Given the description of an element on the screen output the (x, y) to click on. 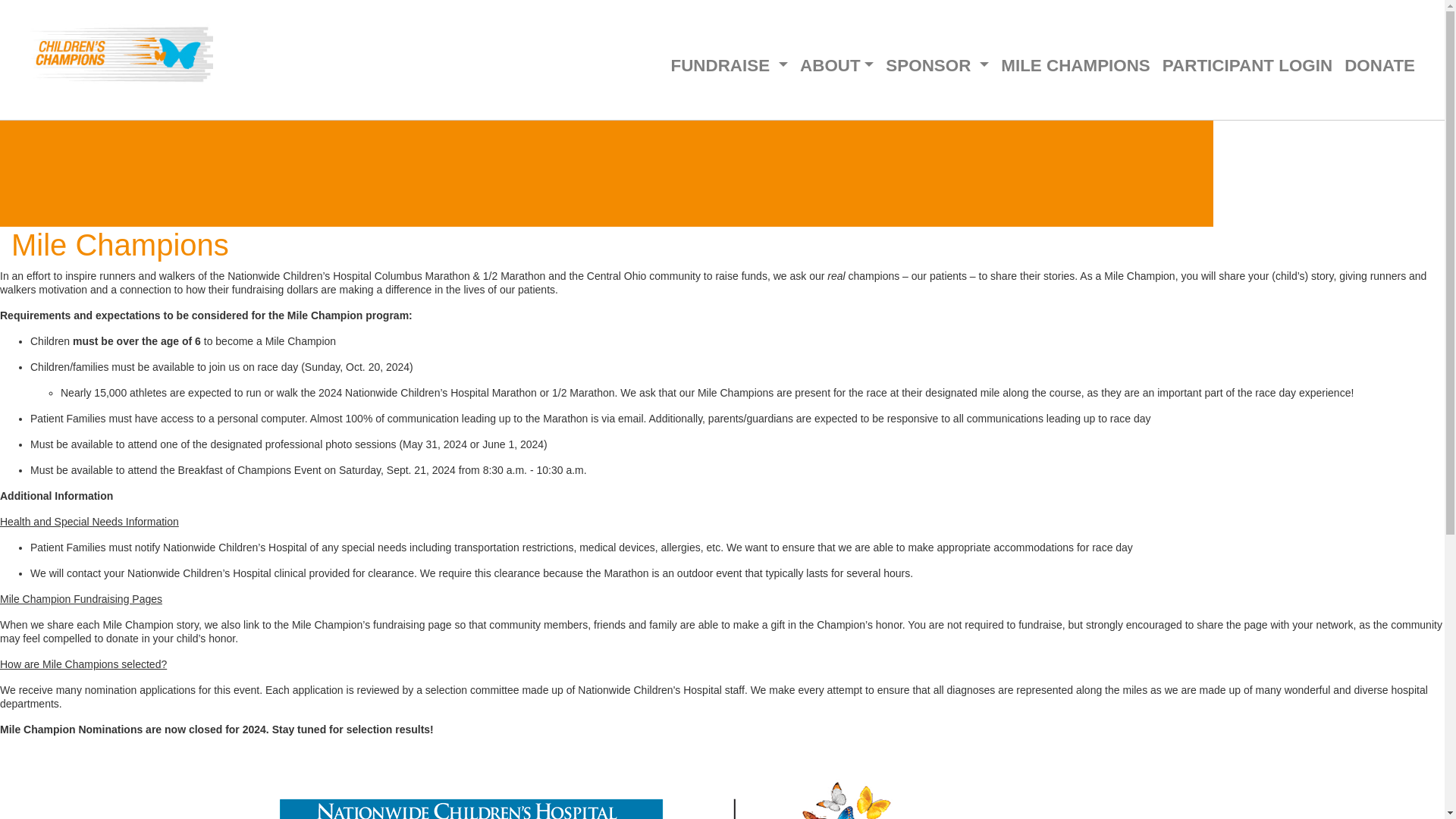
DONATE (1379, 65)
MILE CHAMPIONS (1075, 65)
ABOUT (836, 65)
PARTICIPANT LOGIN (1247, 65)
SPONSOR (936, 65)
FUNDRAISE (728, 65)
